Given the description of an element on the screen output the (x, y) to click on. 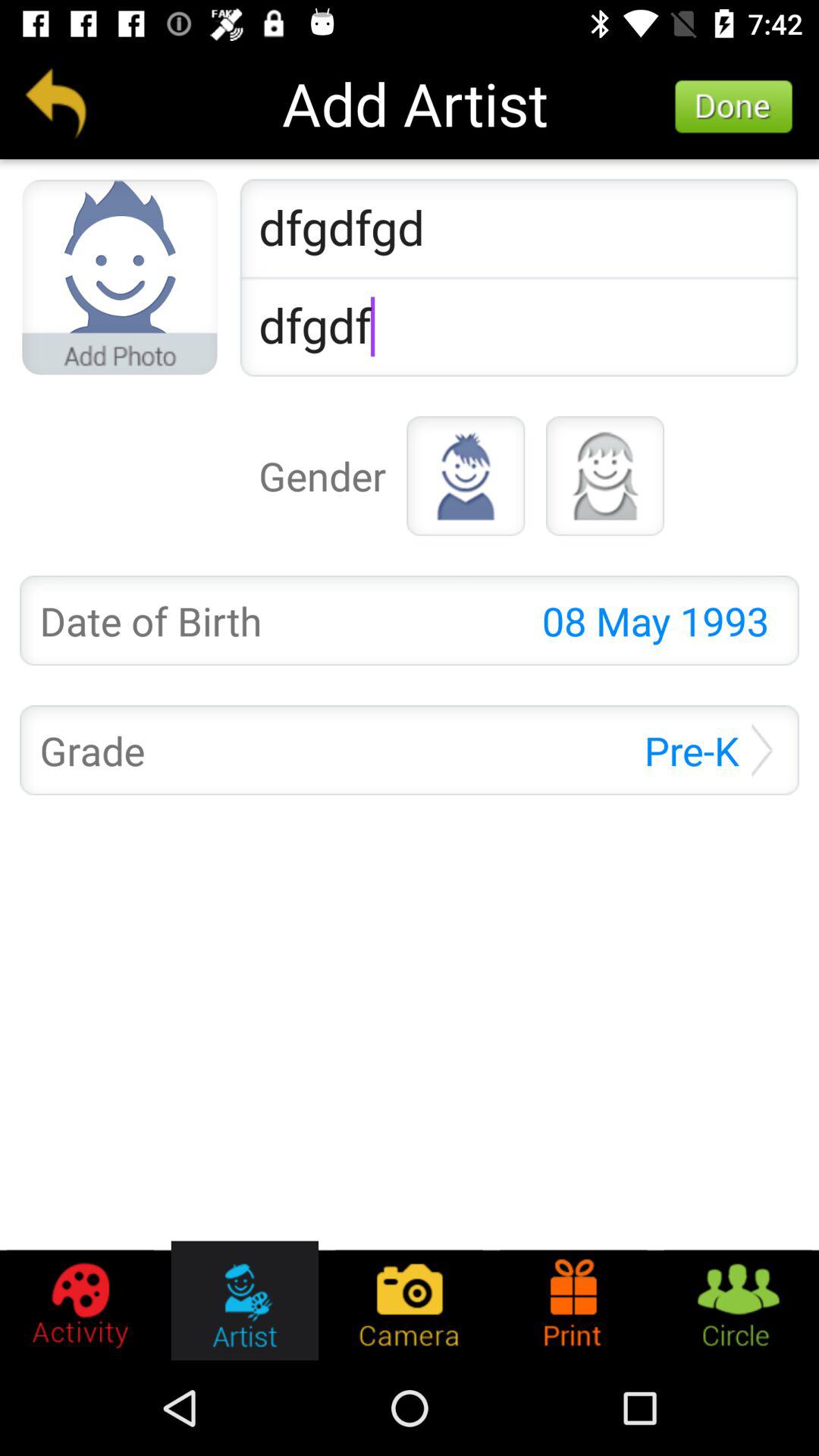
turn on the icon to the right of add artist icon (734, 107)
